Given the description of an element on the screen output the (x, y) to click on. 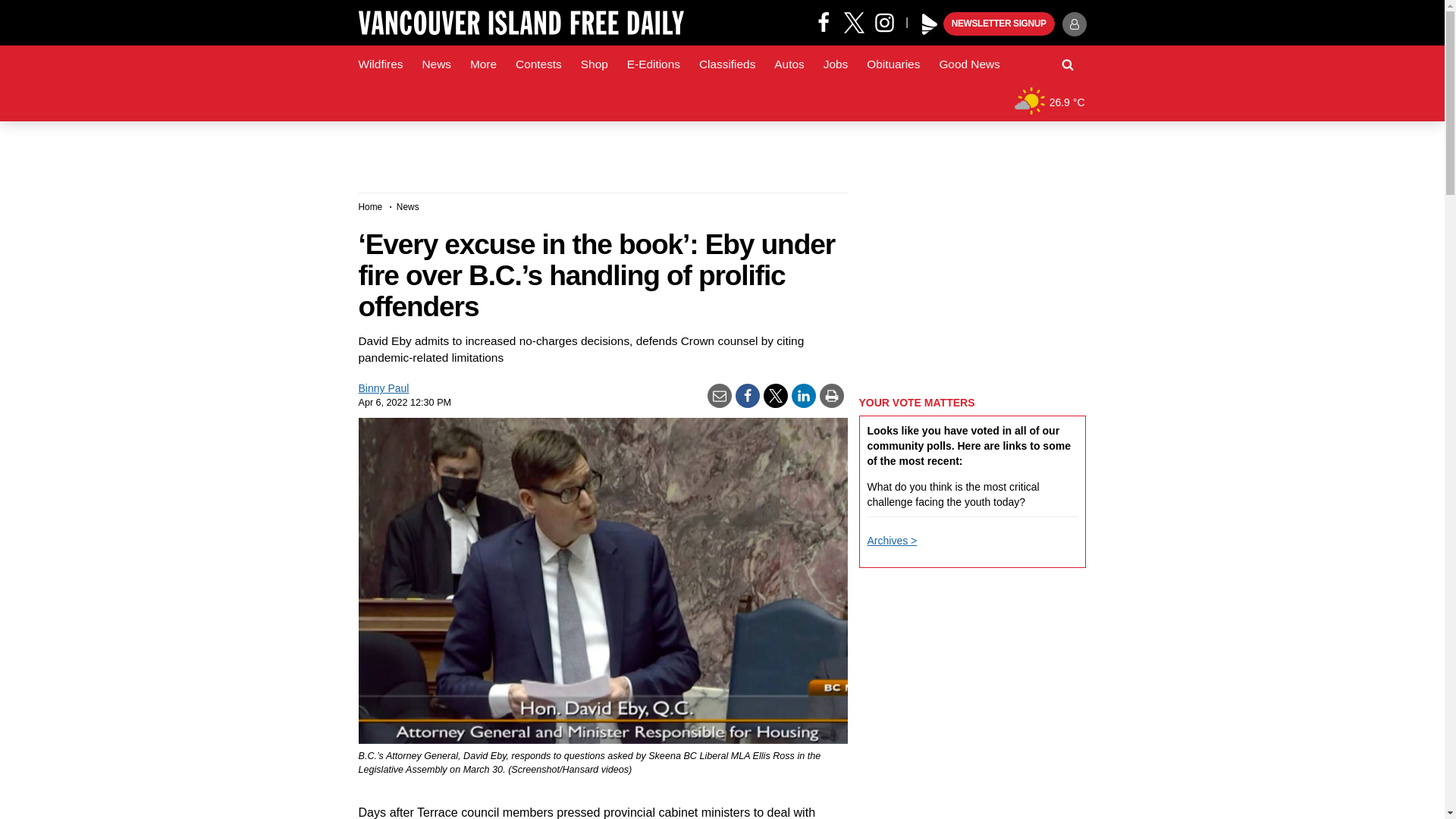
NEWSLETTER SIGNUP (998, 24)
Black Press Media (929, 24)
Play (929, 24)
X (853, 21)
Facebook (823, 21)
Instagram (889, 21)
News (435, 64)
Wildfires (380, 64)
